Given the description of an element on the screen output the (x, y) to click on. 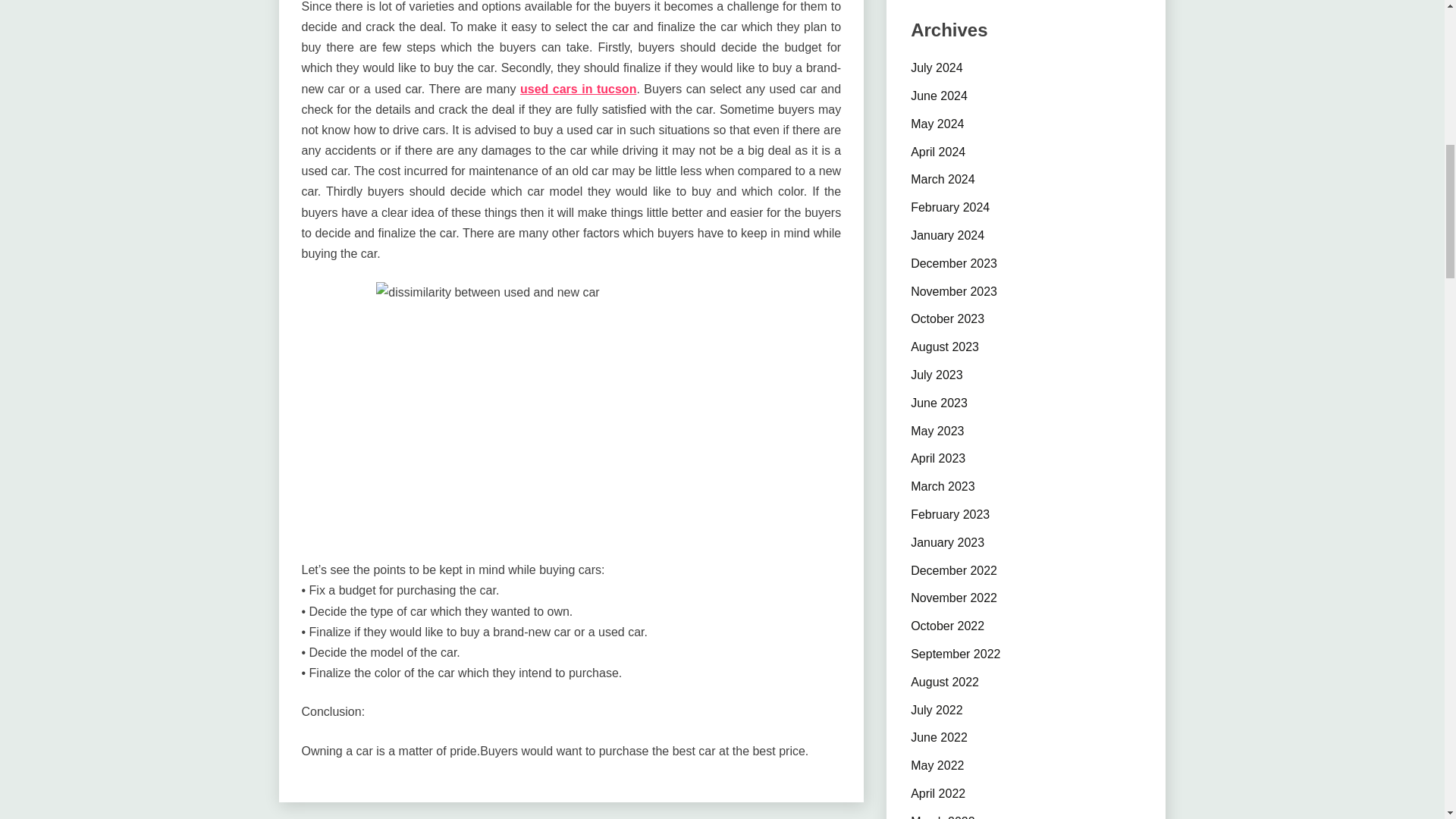
used cars in tucson (577, 88)
May 2024 (937, 123)
April 2024 (938, 151)
June 2024 (939, 95)
July 2024 (936, 67)
